Given the description of an element on the screen output the (x, y) to click on. 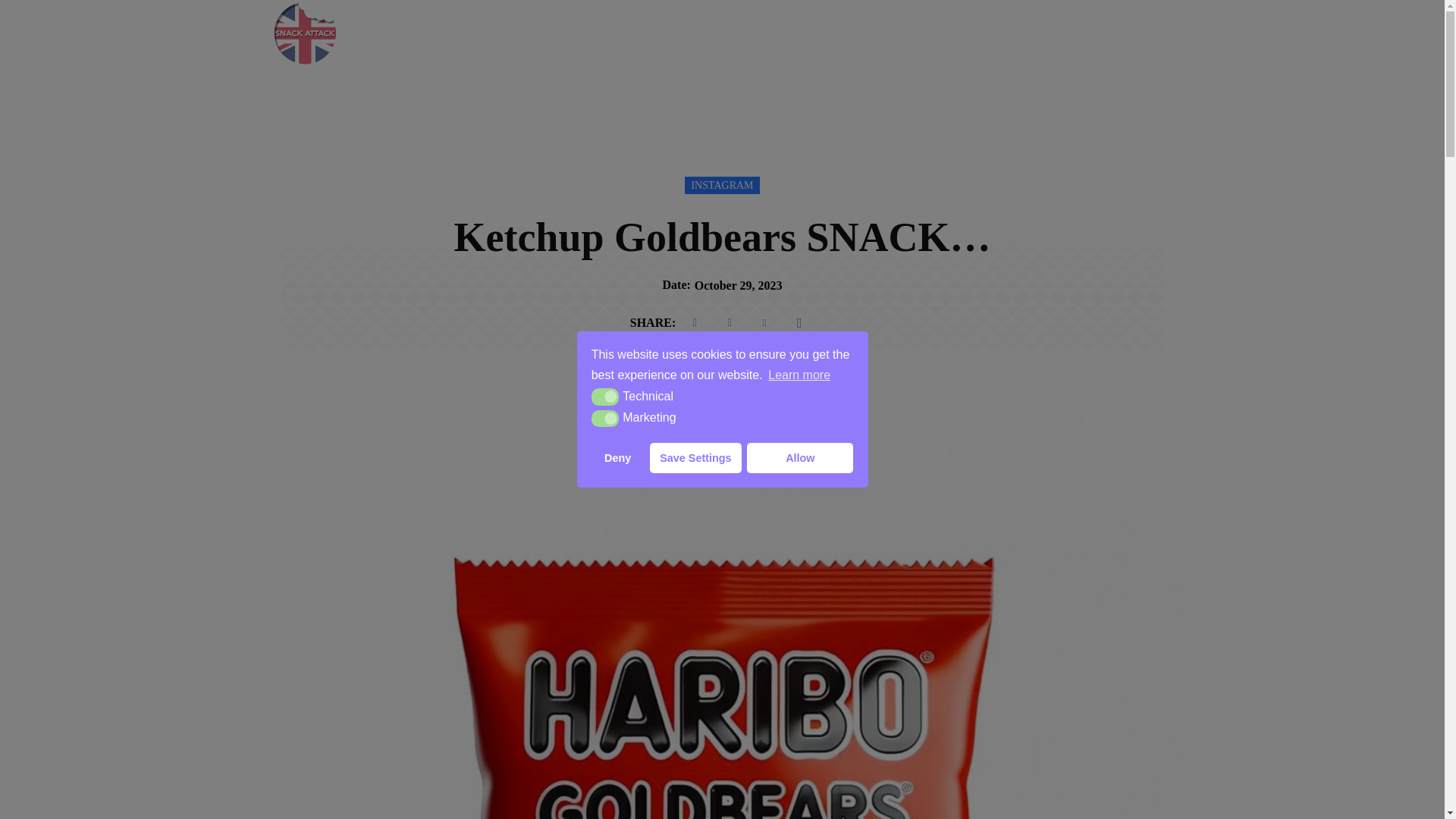
Facebook (694, 322)
INSTAGRAM (721, 185)
WhatsApp (798, 322)
Twitter (729, 322)
Pinterest (763, 322)
